Given the description of an element on the screen output the (x, y) to click on. 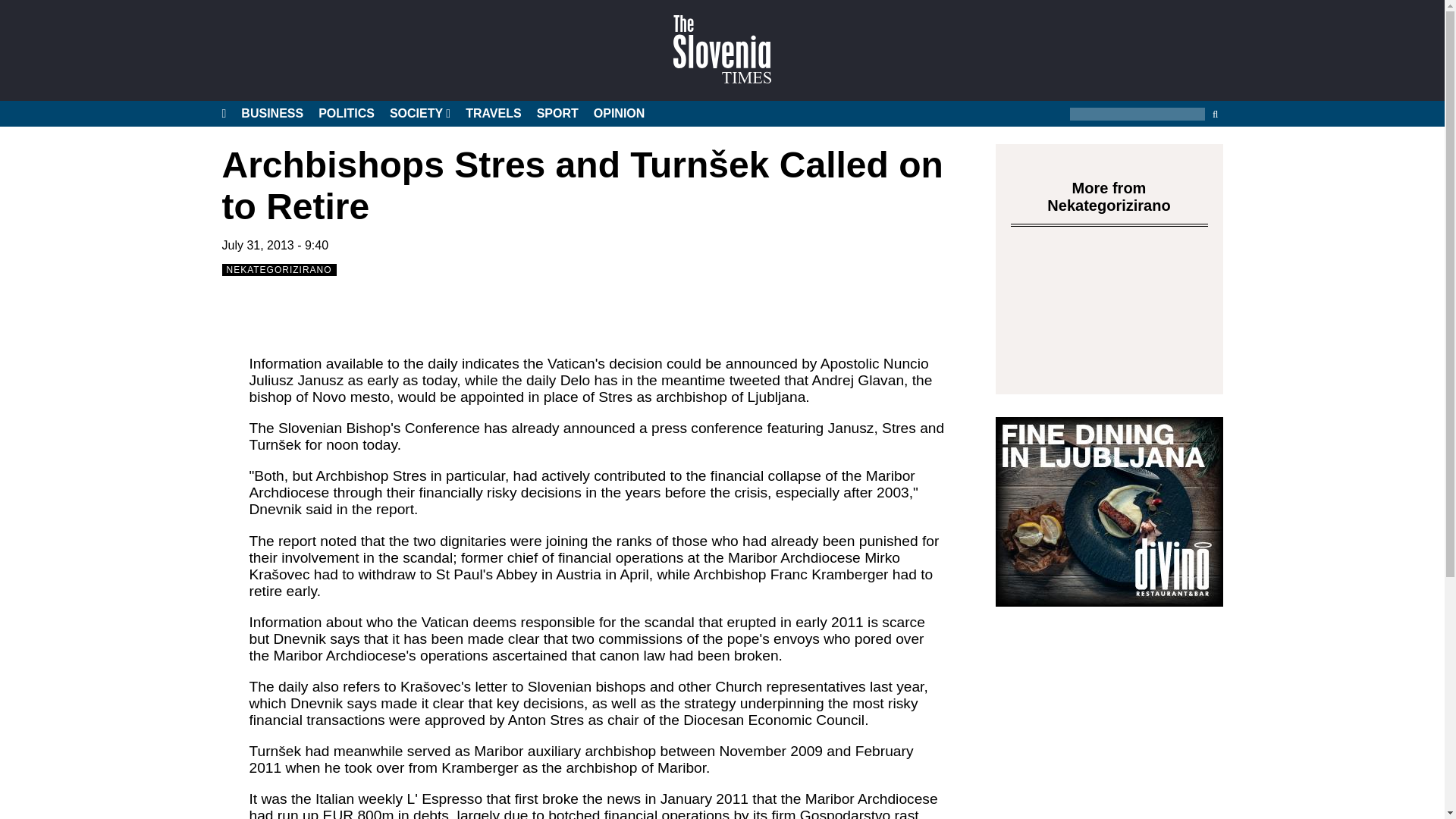
POLITICS (346, 113)
TRAVELS (493, 113)
BUSINESS (271, 113)
SPORT (557, 113)
OPINION (619, 113)
